Given the description of an element on the screen output the (x, y) to click on. 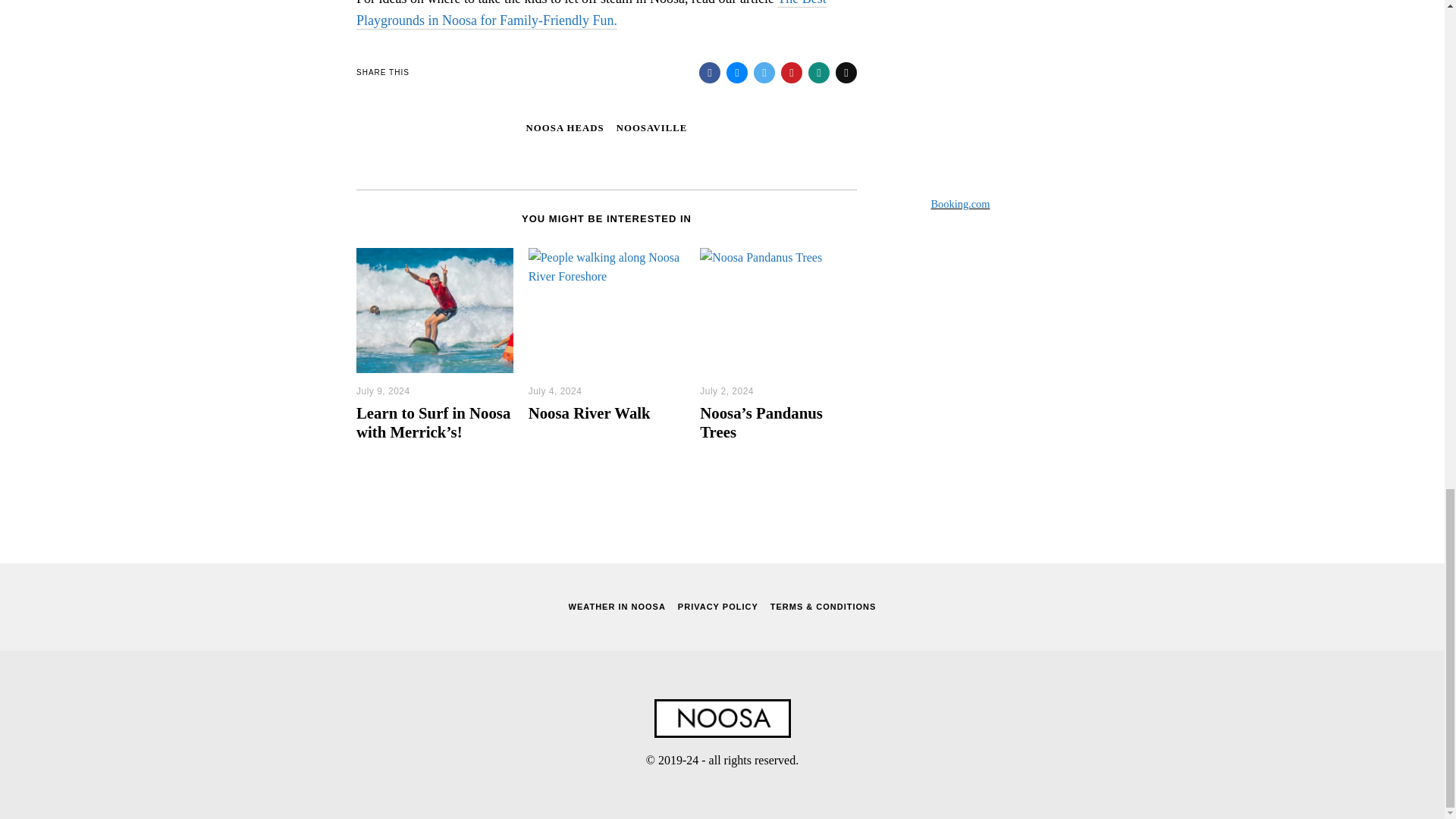
Twitter (764, 72)
Facebook (709, 72)
Email (846, 72)
Whatsapp (818, 72)
Pinterest (791, 72)
Messenger (737, 72)
